Given the description of an element on the screen output the (x, y) to click on. 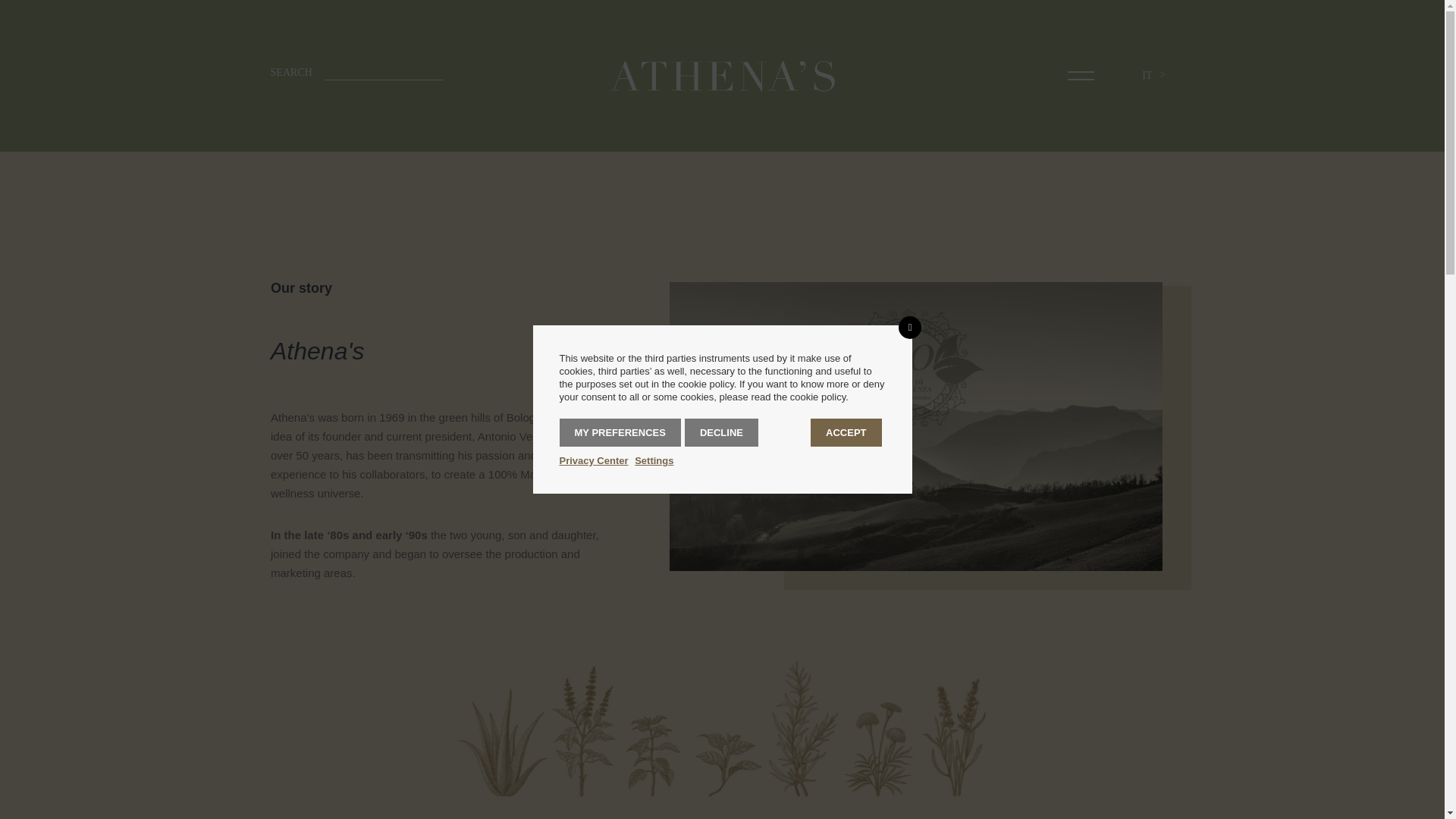
IT (1146, 75)
Navigation Menu (1081, 75)
Navigation Menu (30, 12)
Skip to content (11, 31)
